Given the description of an element on the screen output the (x, y) to click on. 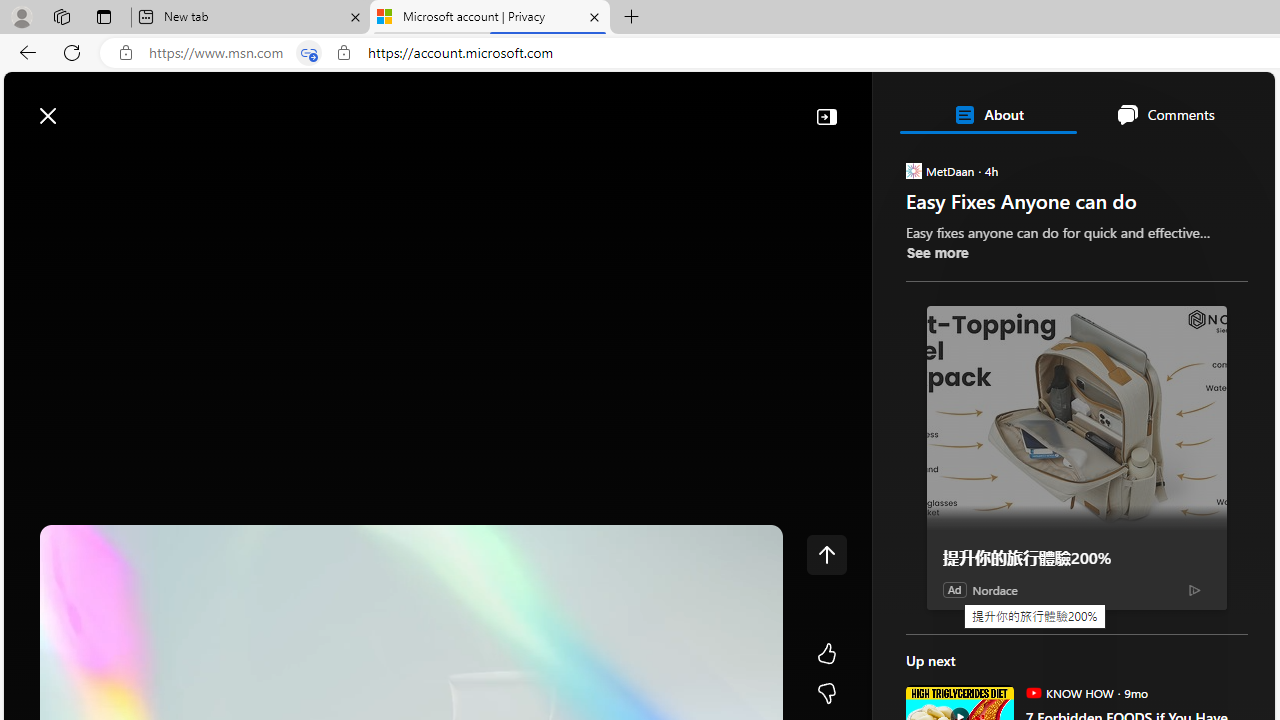
Open navigation menu (29, 162)
Personalize (1195, 162)
MetDaan (912, 170)
Comments (1165, 114)
The Associated Press (974, 645)
